Given the description of an element on the screen output the (x, y) to click on. 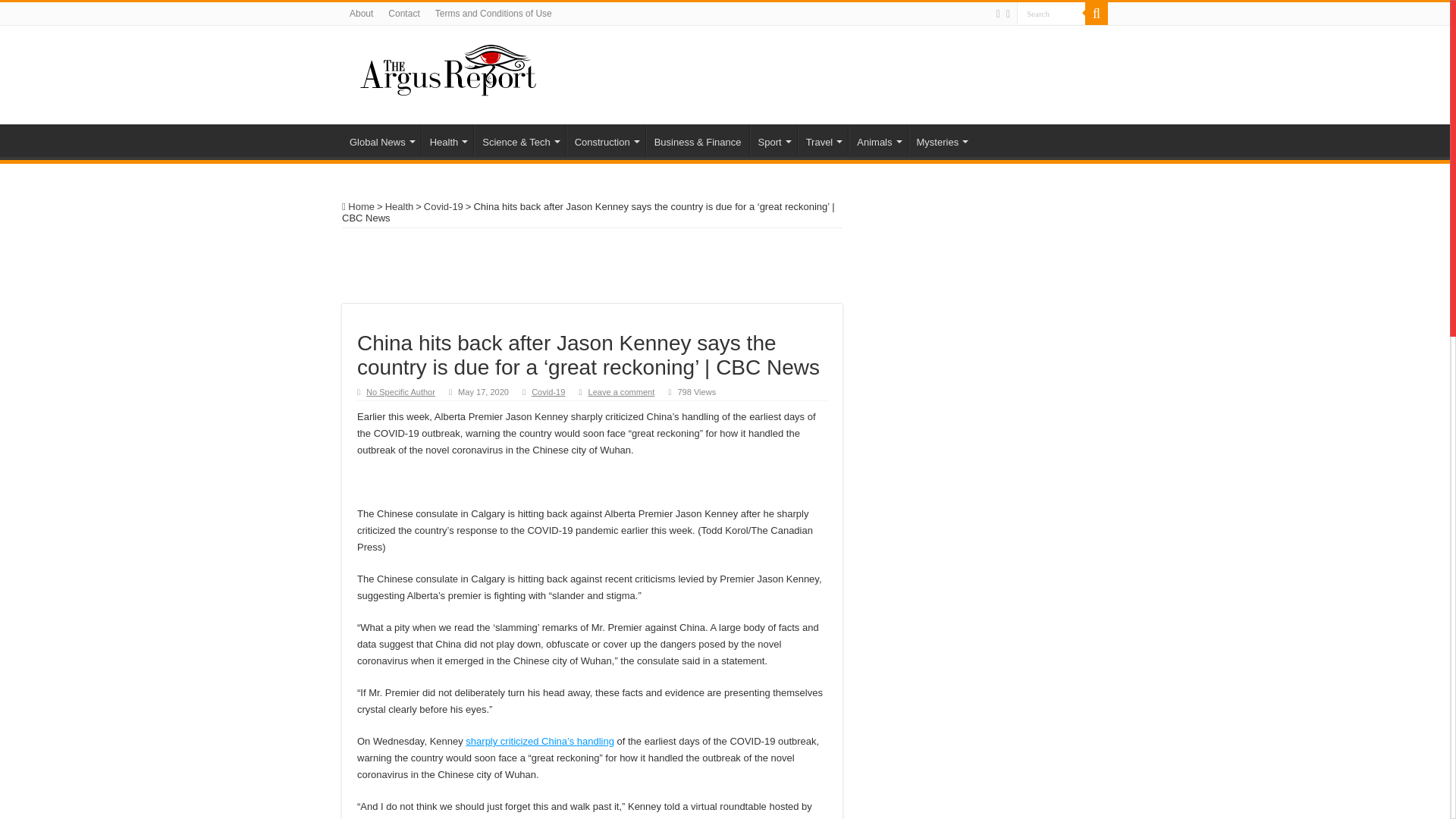
Construction (605, 140)
Health (448, 140)
Search (1050, 13)
Terms and Conditions of Use (493, 13)
Search (1050, 13)
Contact (403, 13)
Sport (772, 140)
Search (1096, 13)
The Argus Report (448, 67)
Search (1050, 13)
Global News (381, 140)
About (361, 13)
